Given the description of an element on the screen output the (x, y) to click on. 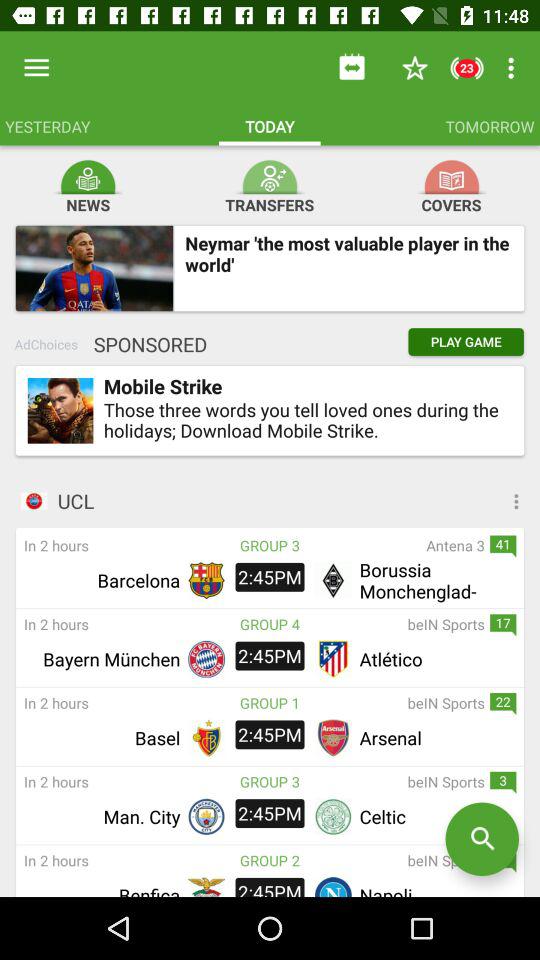
open the item to the right of transfers item (451, 178)
